Given the description of an element on the screen output the (x, y) to click on. 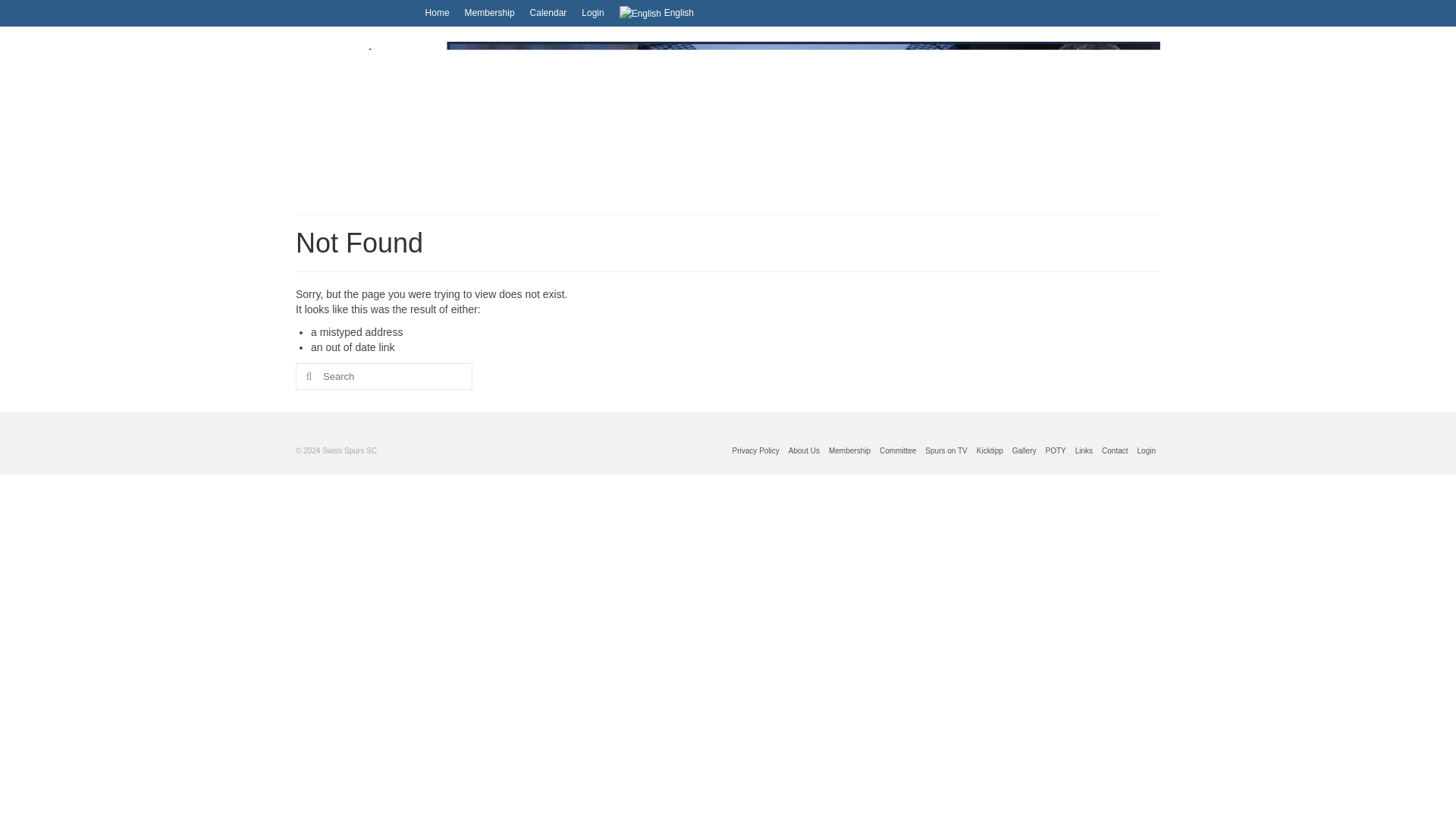
Login (1146, 451)
About Us (804, 451)
Kicktipp (989, 451)
Links (1083, 451)
Spurs on TV (945, 451)
Committee (897, 451)
English (656, 13)
Home (437, 12)
Calendar (548, 12)
POTY (1055, 451)
Gallery (1024, 451)
Login (592, 12)
Membership (849, 451)
Membership (489, 12)
Privacy Policy (756, 451)
